Given the description of an element on the screen output the (x, y) to click on. 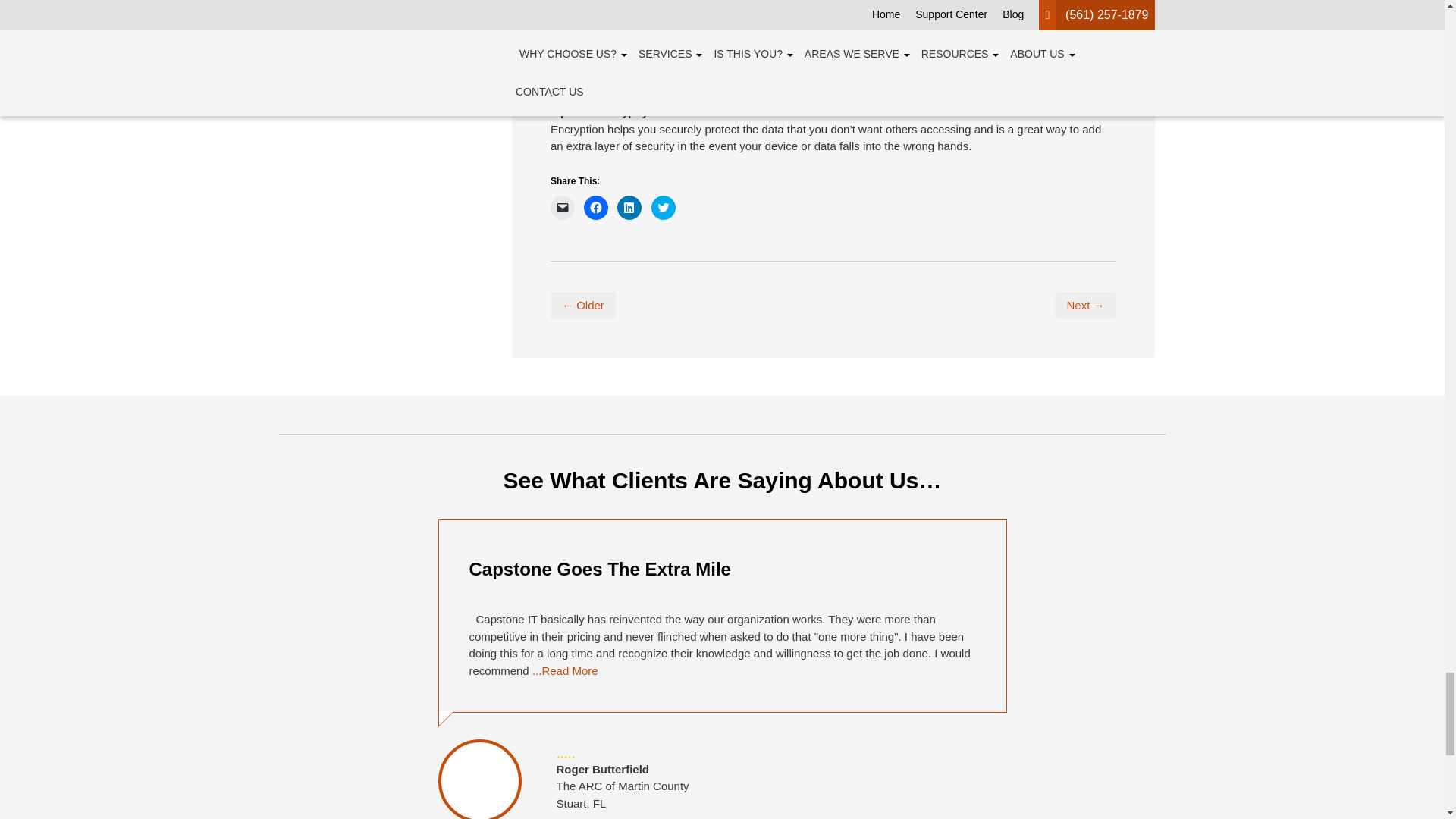
Click to share on LinkedIn (629, 207)
Click to email a link to a friend (562, 207)
Click to share on Twitter (662, 207)
Click to share on Facebook (595, 207)
